Given the description of an element on the screen output the (x, y) to click on. 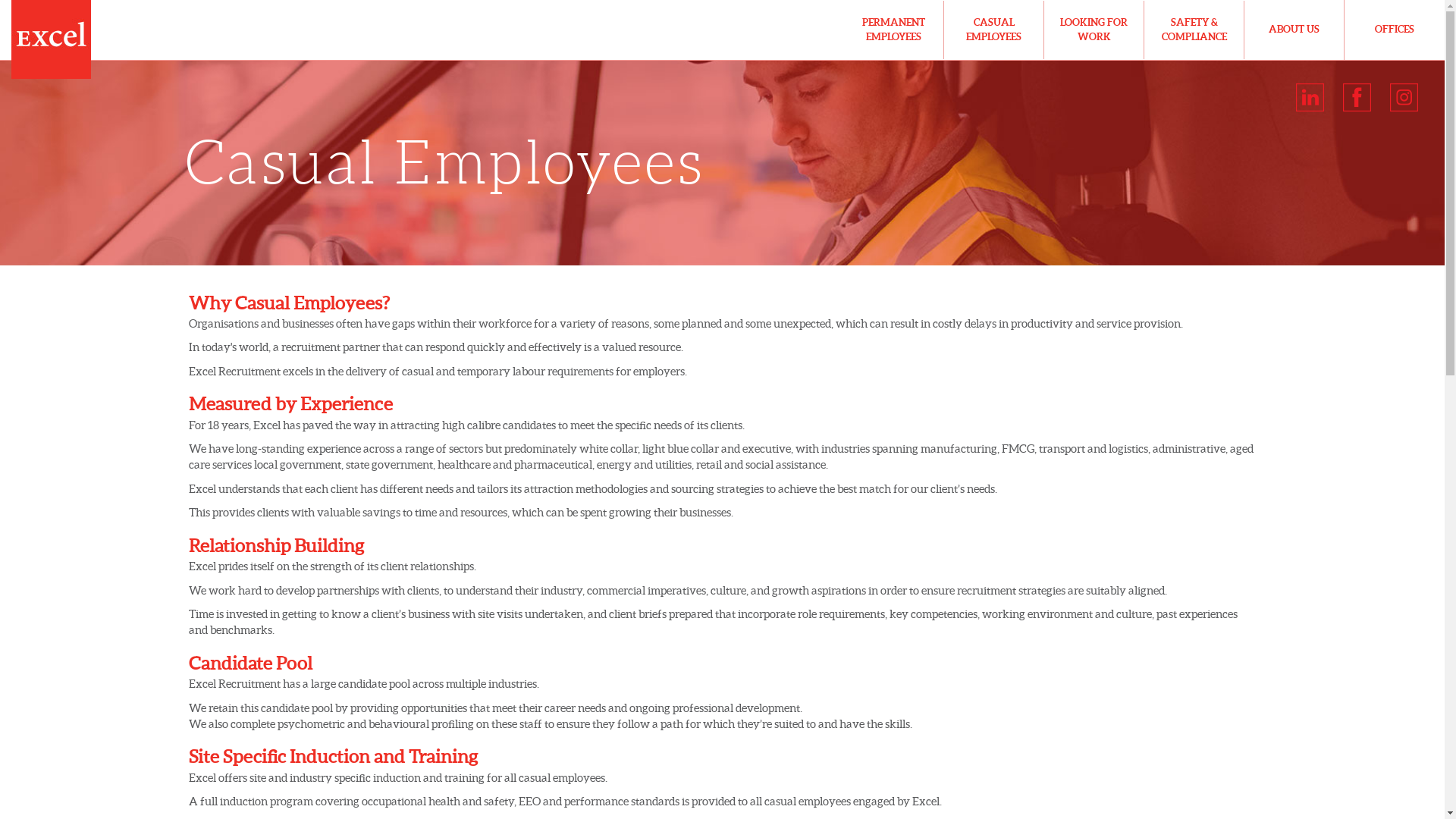
CASUAL EMPLOYEES Element type: text (993, 29)
PERMANENT EMPLOYEES Element type: text (893, 29)
ABOUT US Element type: text (1293, 29)
SAFETY & COMPLIANCE Element type: text (1193, 29)
LOOKING FOR WORK Element type: text (1093, 29)
OFFICES Element type: text (1394, 29)
